Given the description of an element on the screen output the (x, y) to click on. 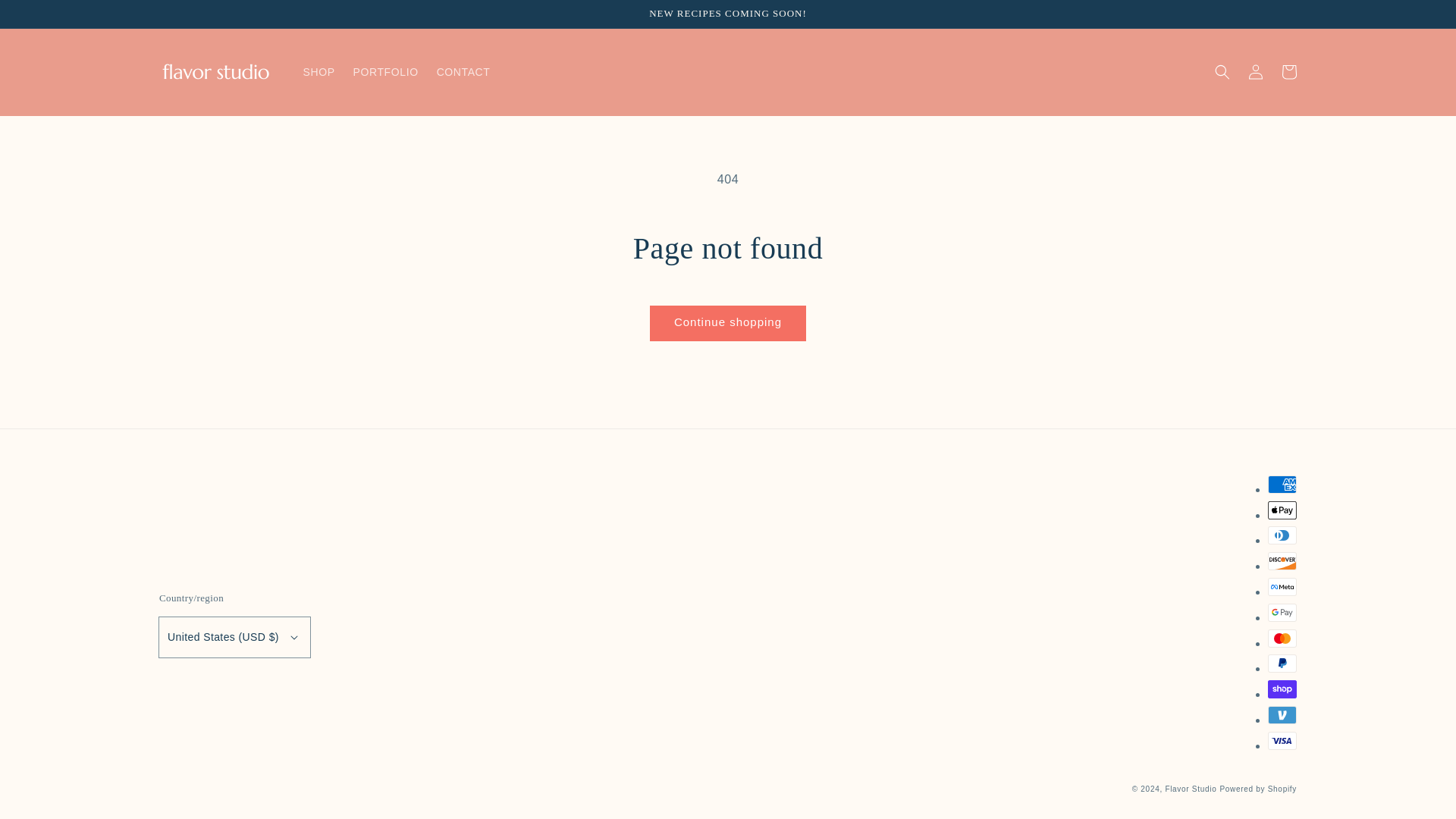
Flavor Studio (1189, 788)
Mastercard (1282, 638)
Meta Pay (1282, 587)
Continue shopping (727, 323)
CONTACT (463, 71)
Google Pay (1282, 612)
PORTFOLIO (385, 71)
Cart (1289, 71)
American Express (1282, 484)
Skip to content (45, 16)
Log in (1255, 71)
PayPal (1282, 663)
Diners Club (1282, 535)
Venmo (1282, 714)
Discover (1282, 561)
